Given the description of an element on the screen output the (x, y) to click on. 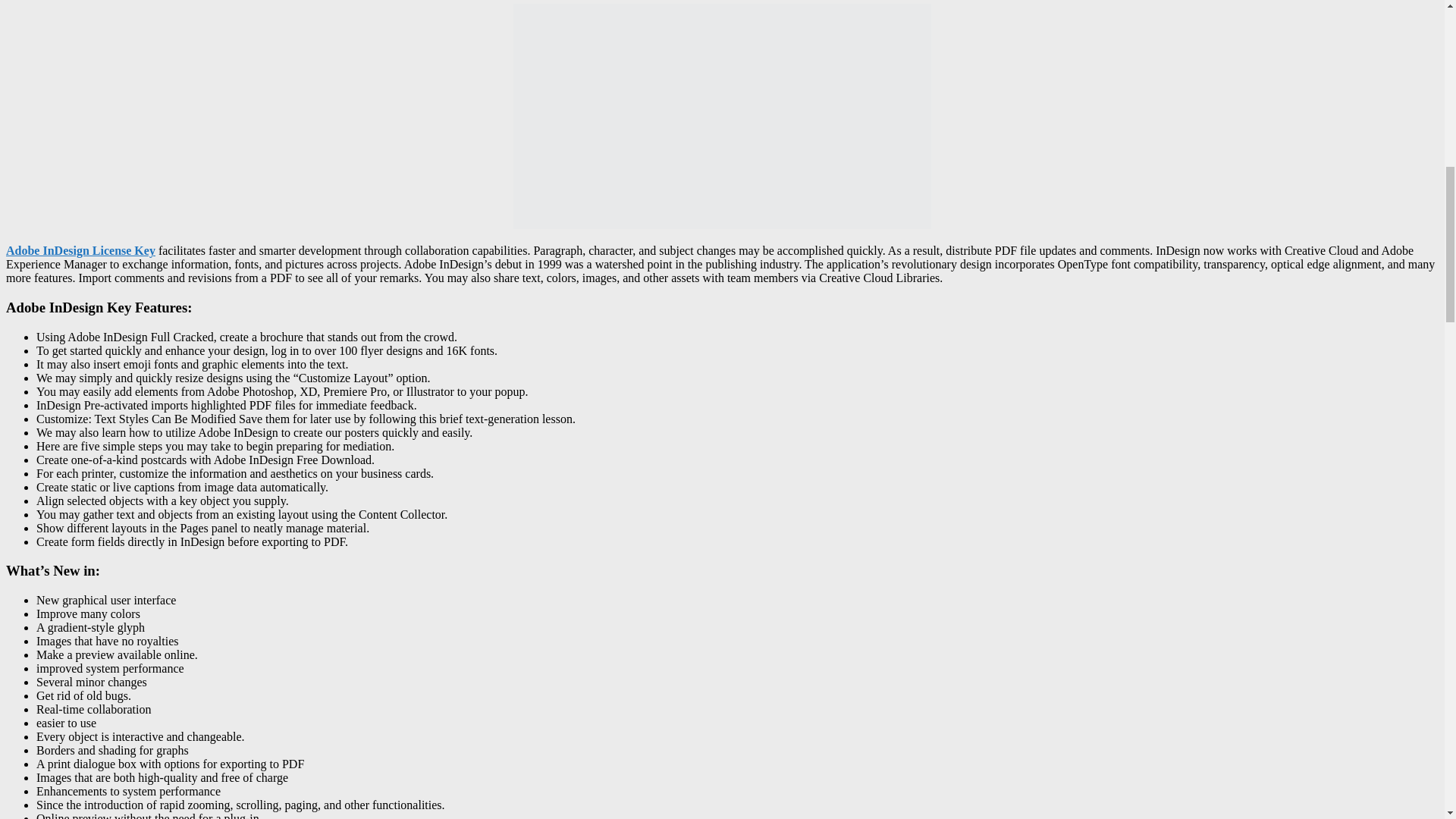
Adobe InDesign License Key (80, 250)
